Given the description of an element on the screen output the (x, y) to click on. 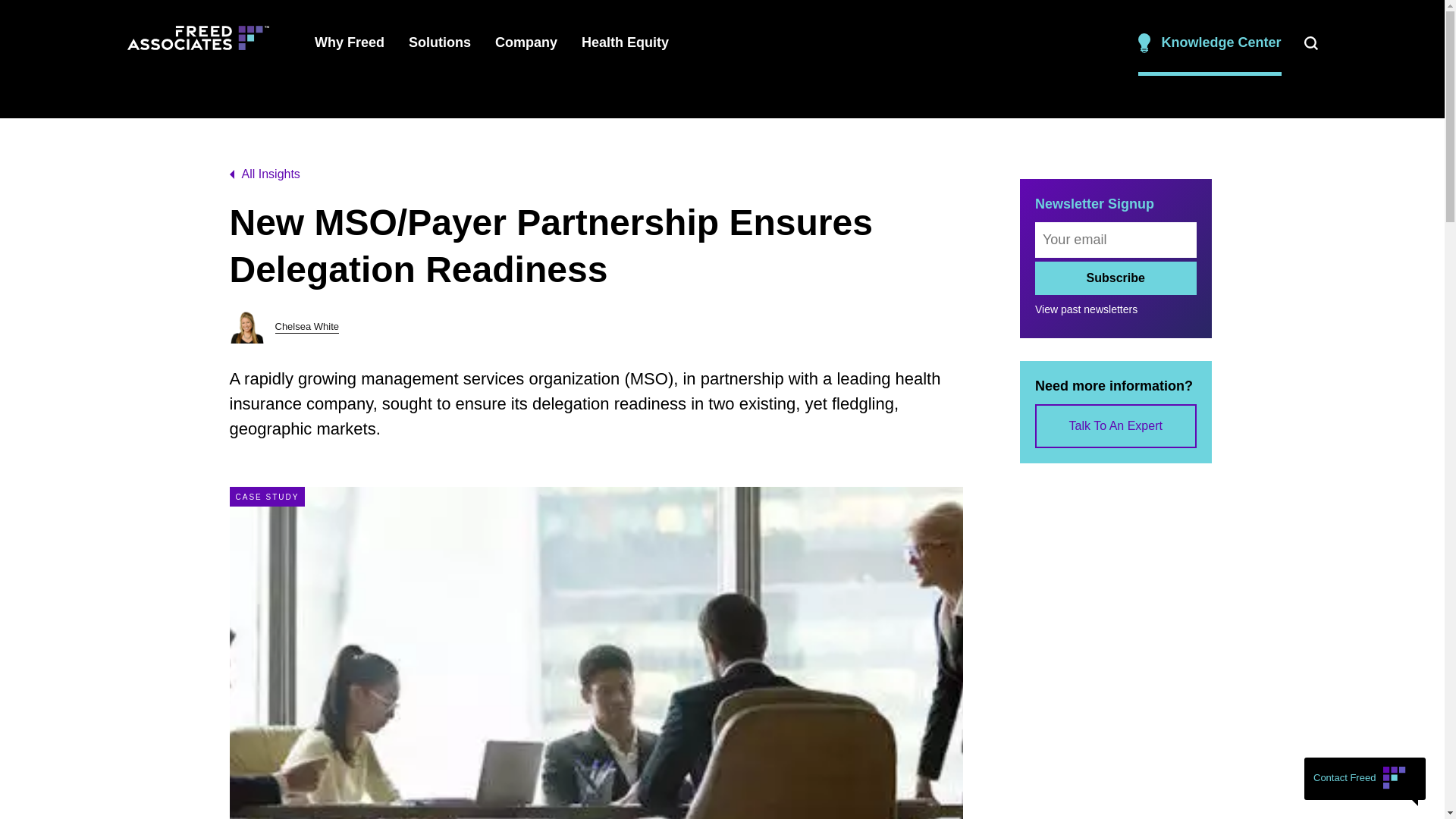
Health Equity (624, 42)
Company (526, 42)
Solutions (439, 42)
Why Freed (349, 42)
Knowledge Center (1209, 42)
Read our latest newsletter. (757, 19)
